Given the description of an element on the screen output the (x, y) to click on. 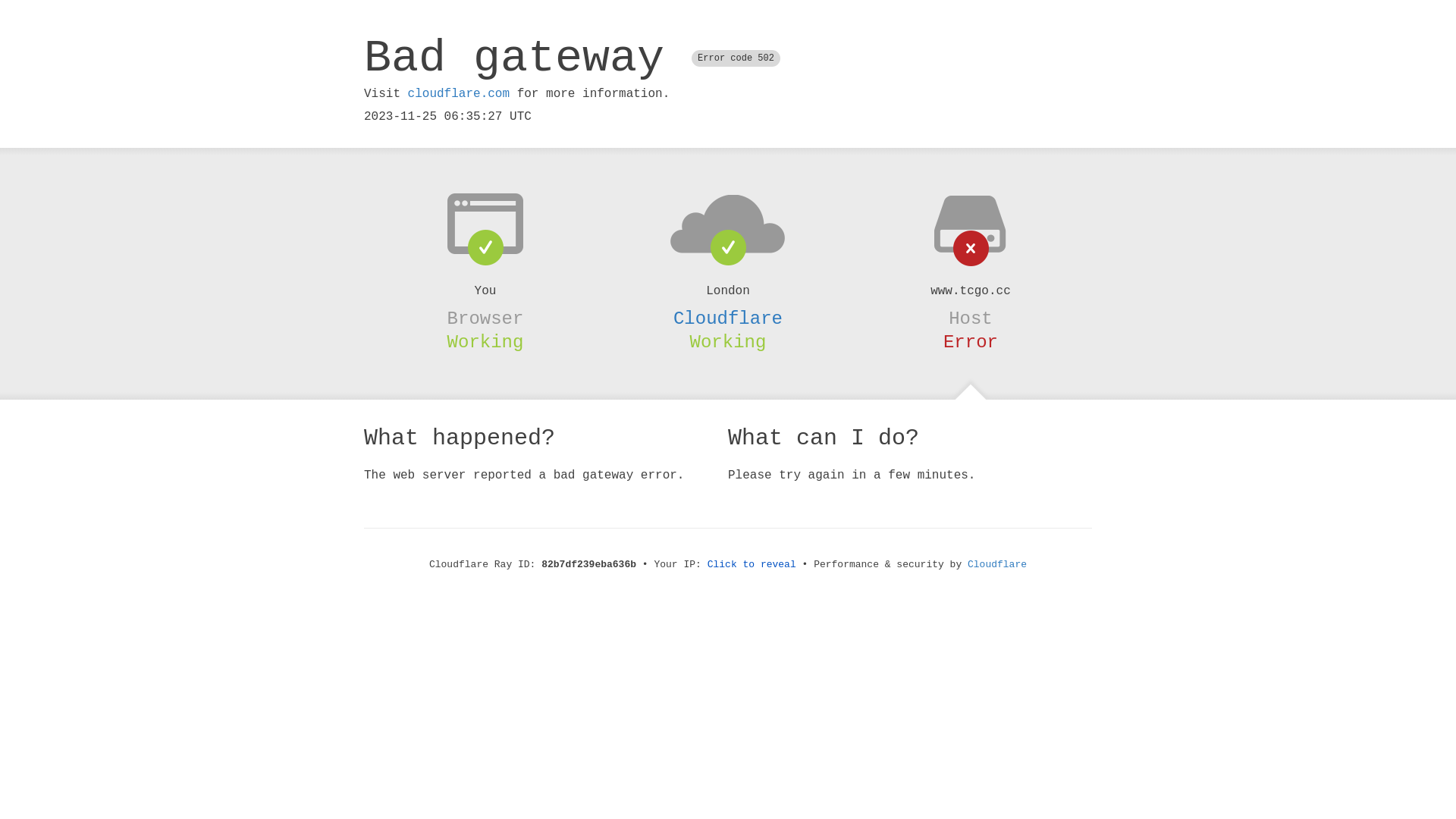
cloudflare.com Element type: text (458, 93)
Click to reveal Element type: text (751, 564)
Cloudflare Element type: text (727, 318)
Cloudflare Element type: text (996, 564)
